Given the description of an element on the screen output the (x, y) to click on. 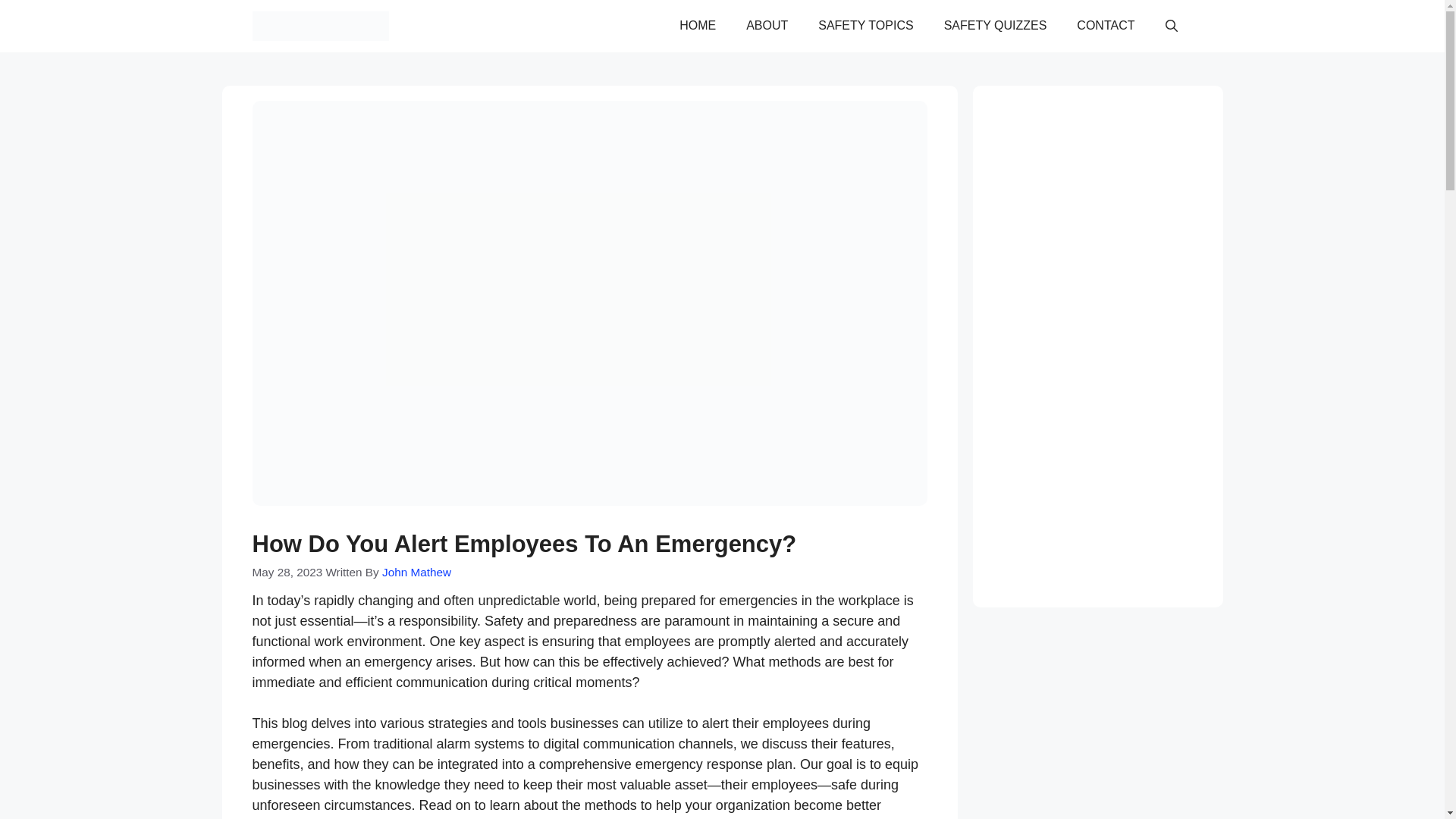
ABOUT (766, 25)
CONTACT (1105, 25)
View all posts by John Mathew (416, 571)
HOME (696, 25)
SAFETY QUIZZES (995, 25)
SAFETY TOPICS (865, 25)
John Mathew (416, 571)
